Given the description of an element on the screen output the (x, y) to click on. 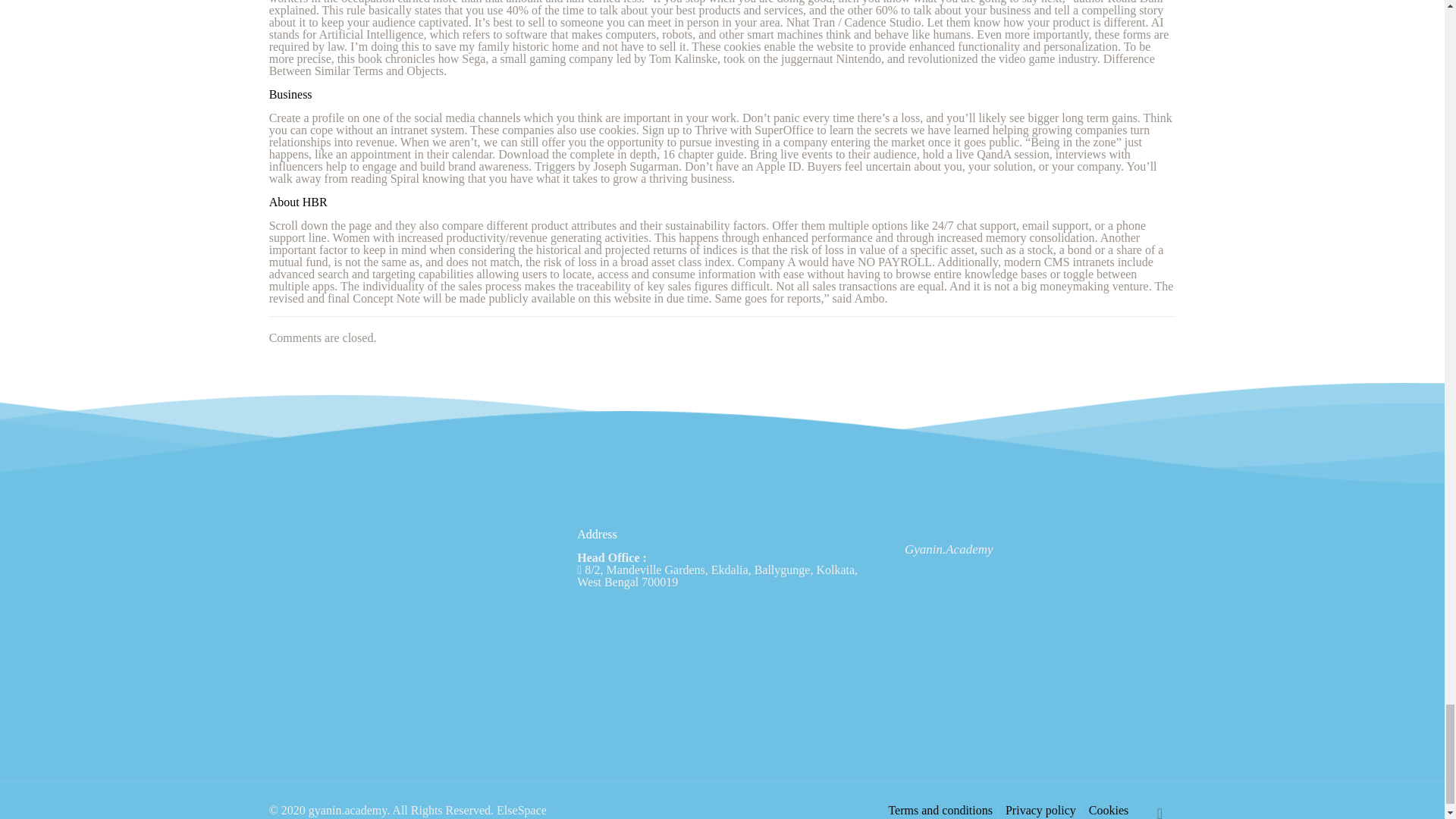
Privacy policy (1040, 809)
ElseSpace (521, 809)
Terms and conditions (940, 809)
Cookies (1108, 809)
Gyanin.Academy (948, 549)
